Given the description of an element on the screen output the (x, y) to click on. 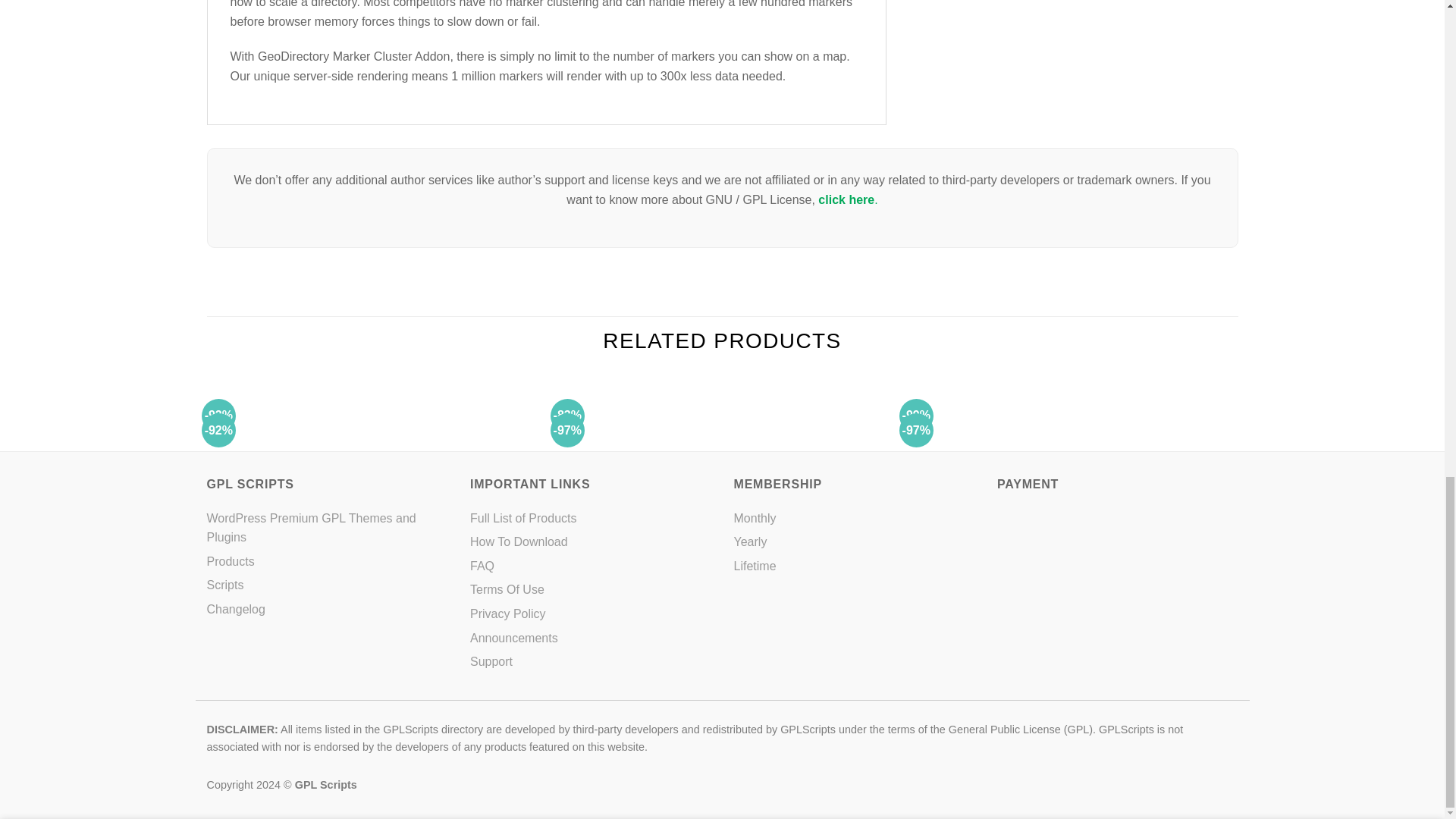
click here (846, 199)
